Given the description of an element on the screen output the (x, y) to click on. 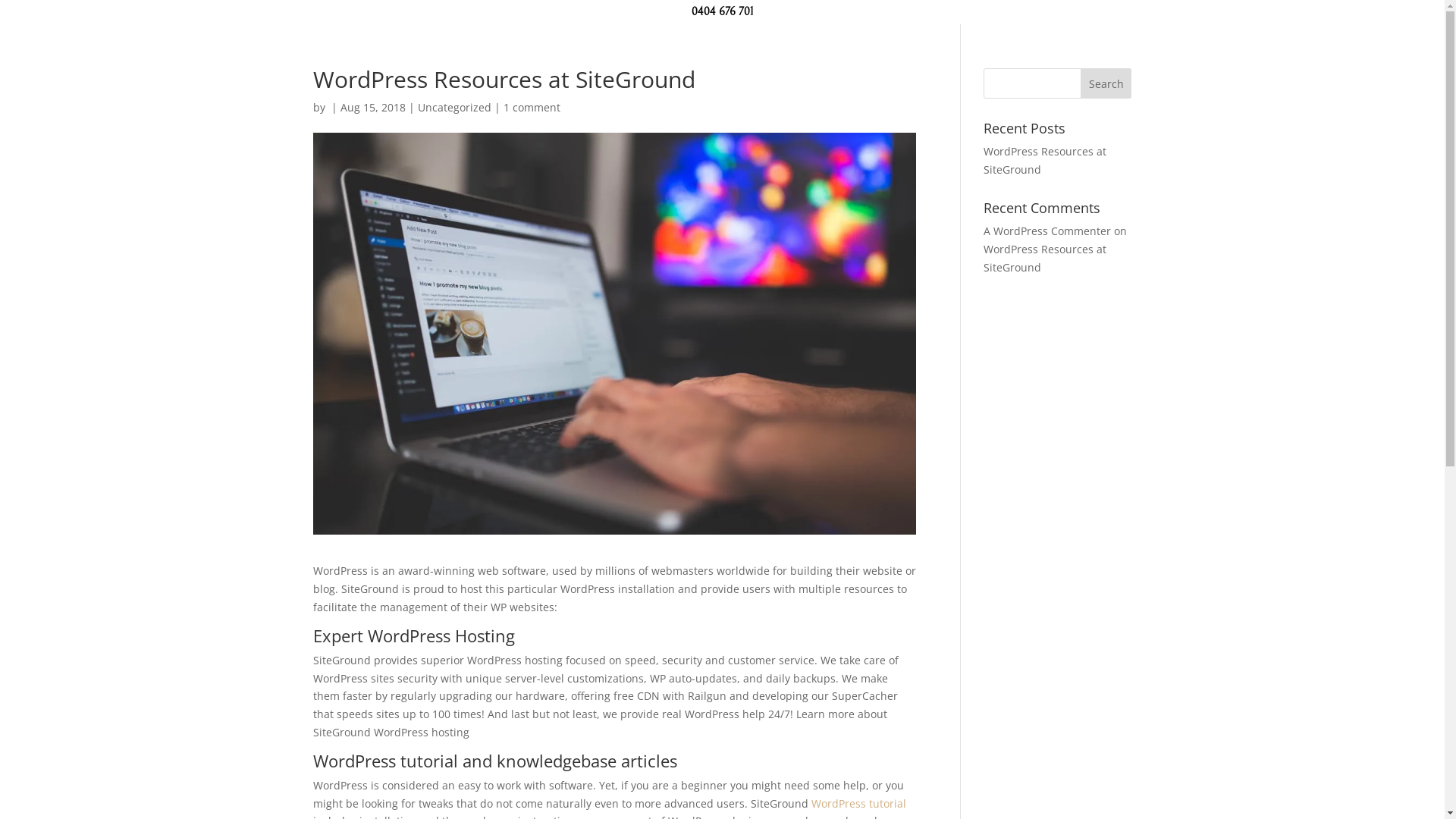
A WordPress Commenter Element type: text (1046, 230)
Search Element type: text (1106, 83)
WordPress Hosting Element type: text (440, 635)
Uncategorized Element type: text (453, 107)
WordPress tutorial Element type: text (858, 803)
WordPress Resources at SiteGround Element type: text (1044, 257)
0404 676 701 Element type: text (722, 11)
WordPress Resources at SiteGround Element type: text (1044, 160)
1 comment Element type: text (531, 107)
